Given the description of an element on the screen output the (x, y) to click on. 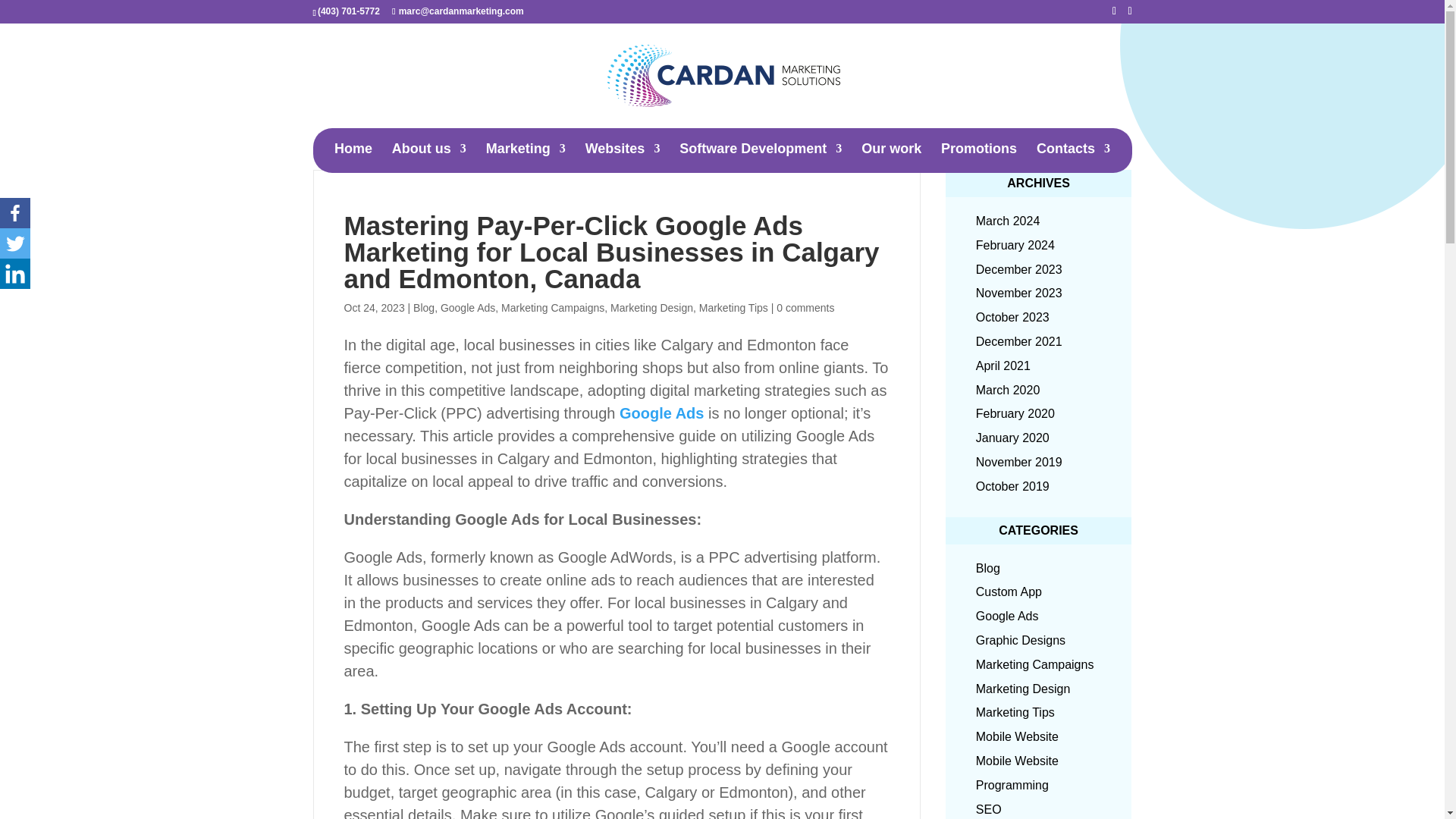
Contacts (1072, 157)
Marketing Design (651, 307)
Google Ads (468, 307)
0 comments (805, 307)
Our work (891, 157)
Websites (623, 157)
Google Ads (661, 412)
Facebook (15, 213)
Home (353, 157)
About us (428, 157)
